Given the description of an element on the screen output the (x, y) to click on. 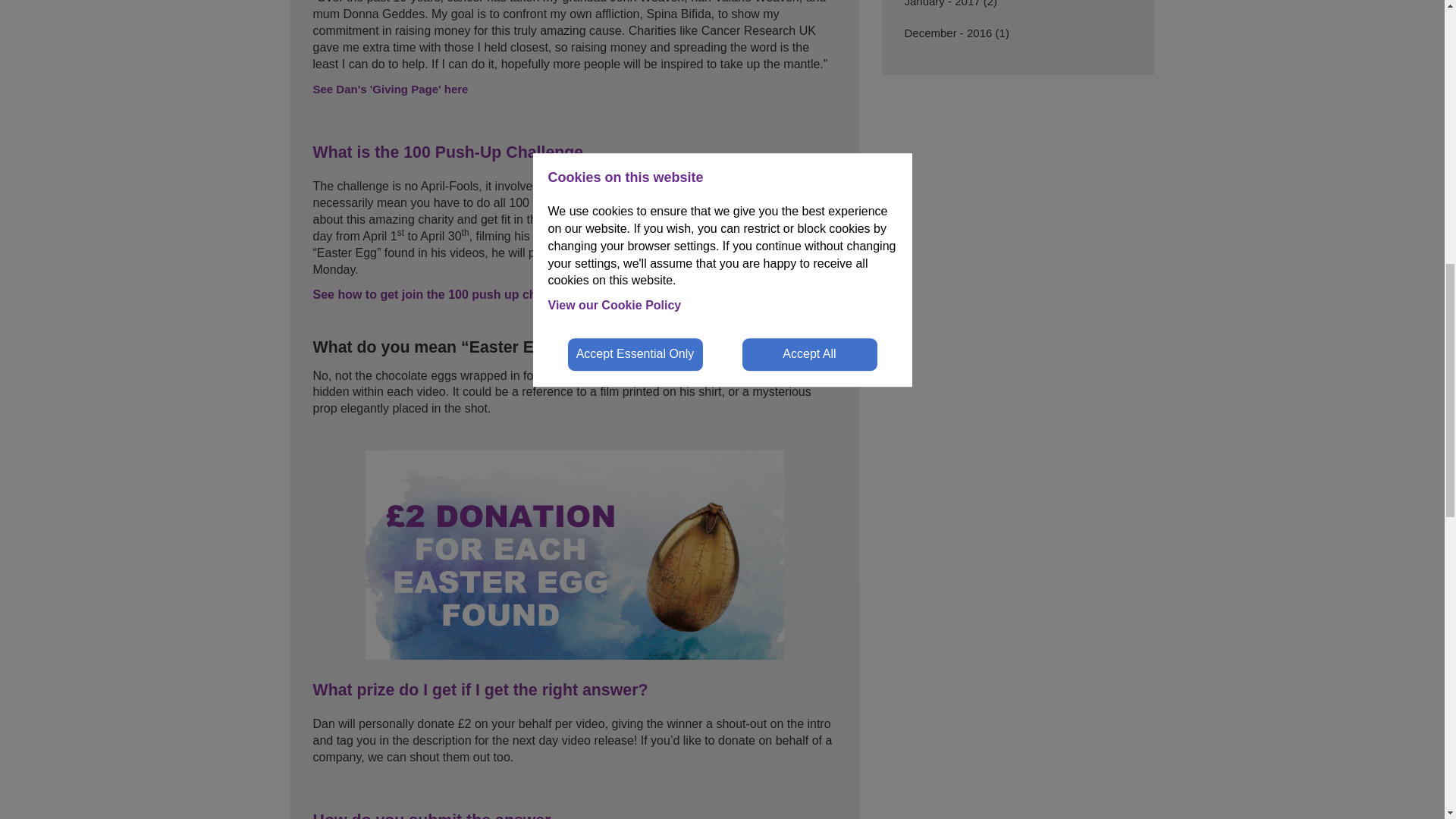
See Dan's 'Giving Page' here (383, 88)
See how to get join the 100 push up challenge HERE! (458, 294)
